Given the description of an element on the screen output the (x, y) to click on. 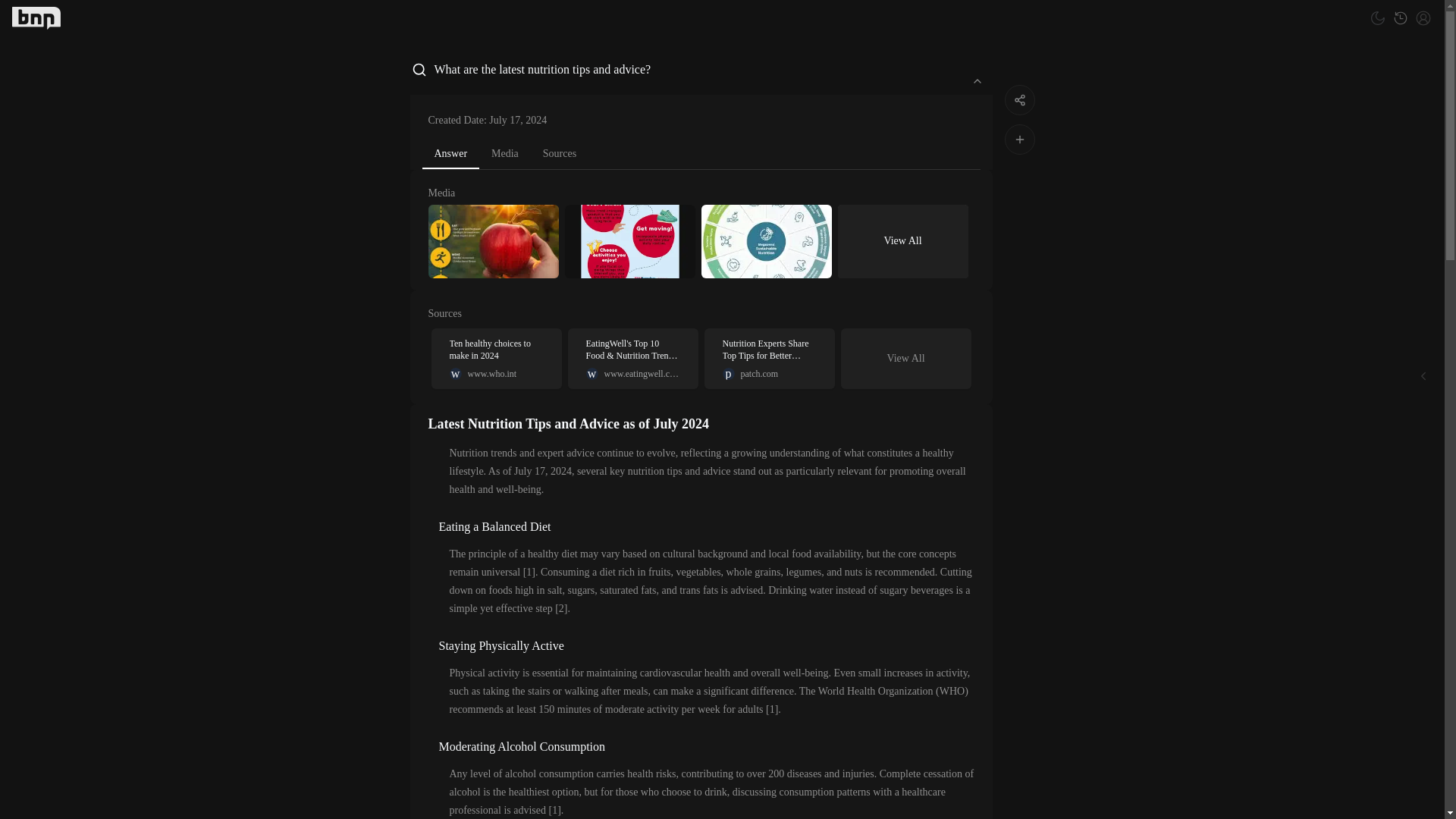
Toggle theme (1377, 17)
Answer (495, 358)
View All (450, 154)
BNNGPT (905, 358)
Media (36, 17)
collapse (505, 153)
Sources (975, 80)
